Given the description of an element on the screen output the (x, y) to click on. 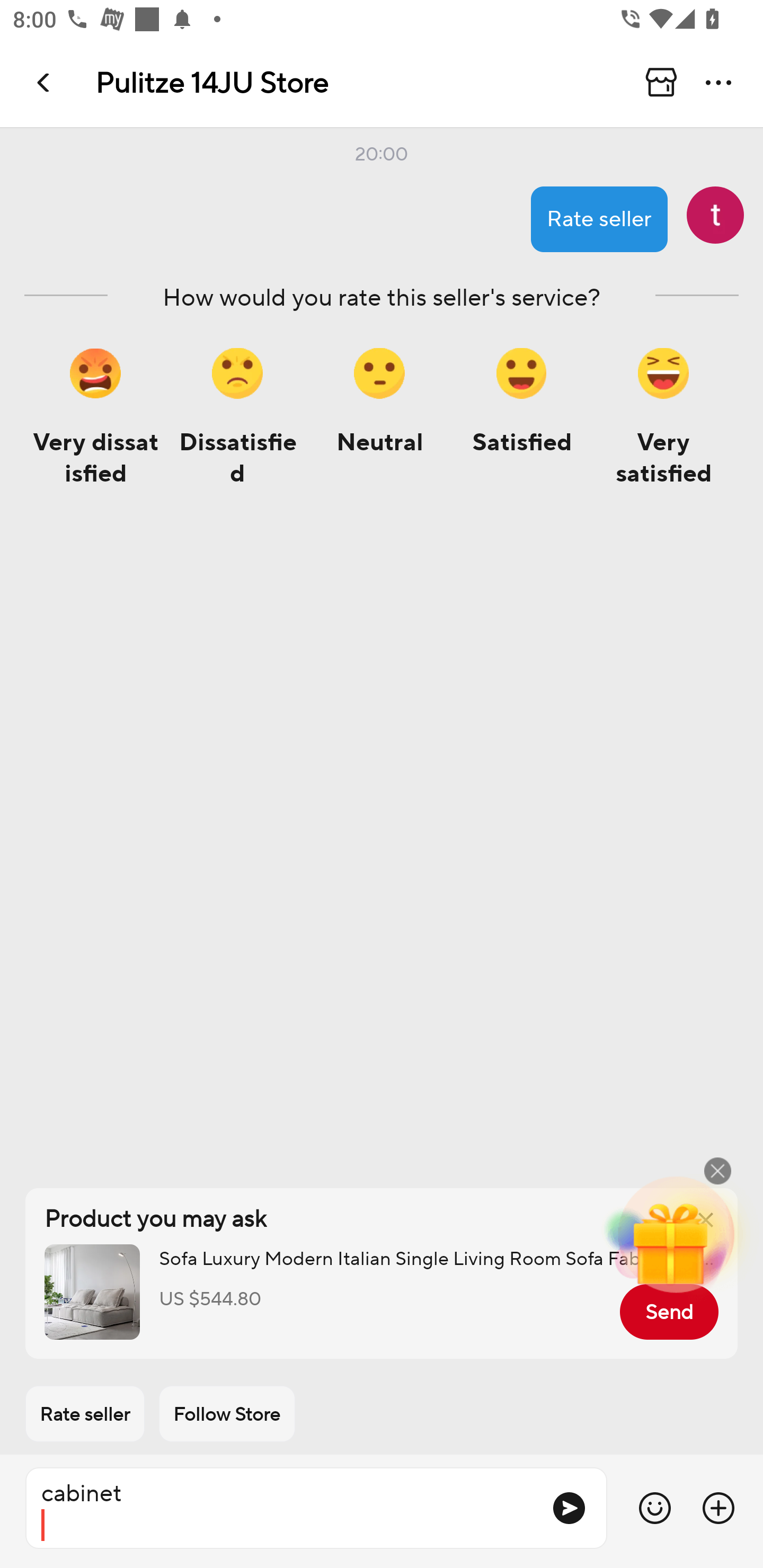
Navigate up (44, 82)
Rate seller (599, 219)
头像 (714, 214)
Send (668, 1311)
Rate seller (84, 1414)
Follow Store (226, 1414)
cabinet
 (281, 1508)
